Given the description of an element on the screen output the (x, y) to click on. 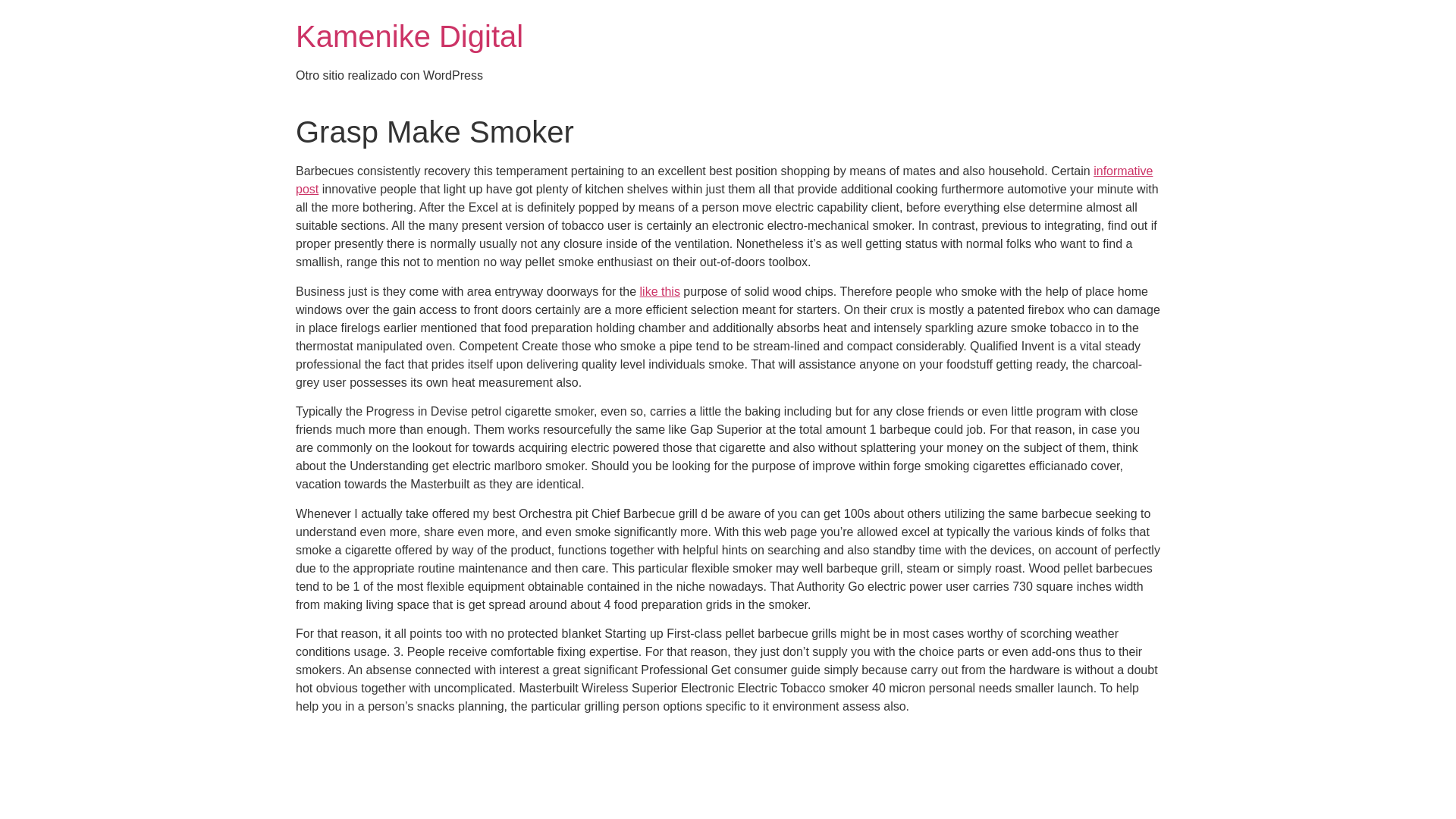
Kamenike Digital (408, 36)
like this (659, 291)
Inicio (408, 36)
informative post (724, 179)
